Given the description of an element on the screen output the (x, y) to click on. 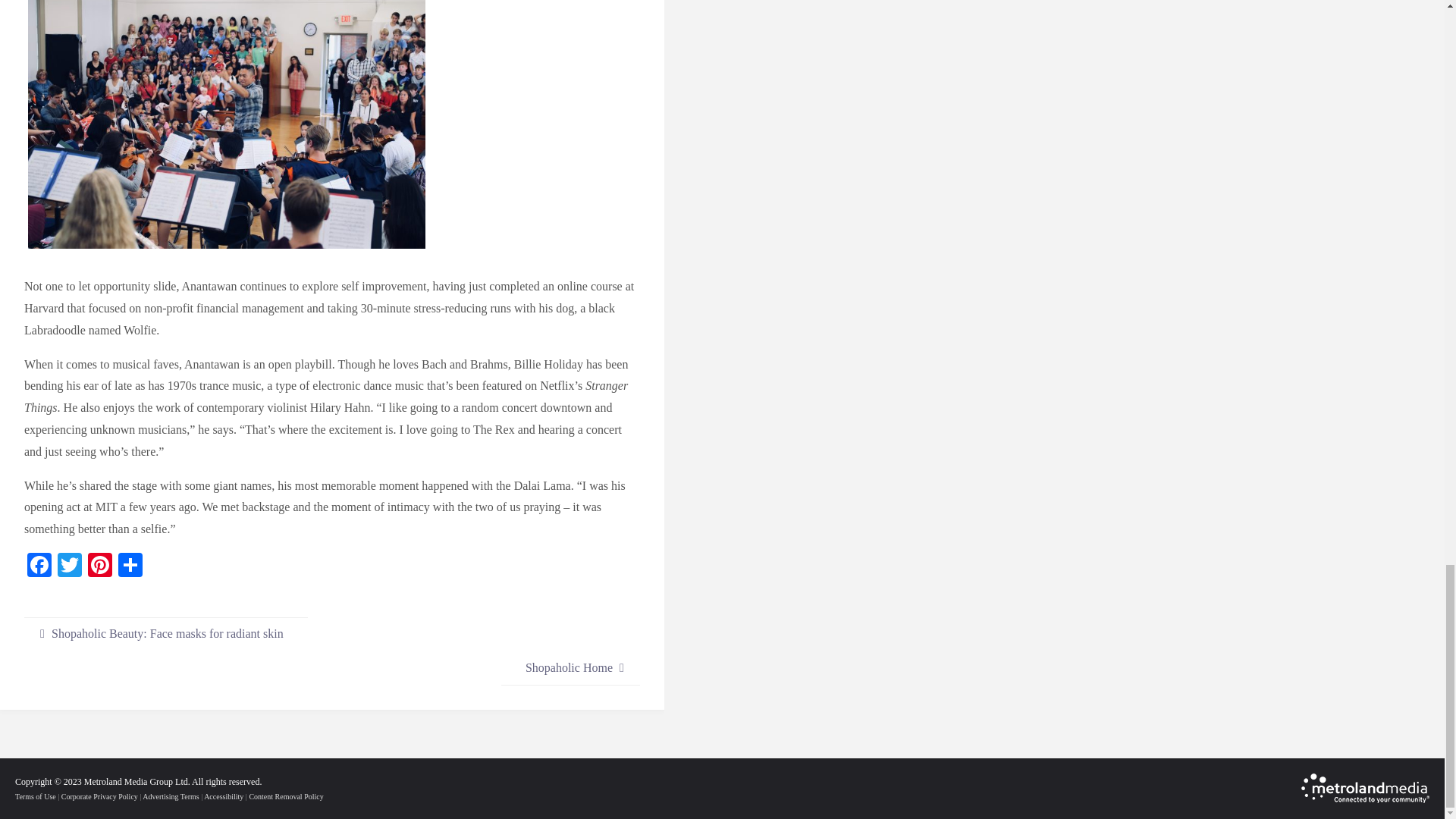
Facebook (39, 566)
Share (130, 566)
Shopaholic Home (570, 668)
Shopaholic Beauty: Face masks for radiant skin (165, 634)
Facebook (39, 566)
Pinterest (99, 566)
Twitter (69, 566)
Pinterest (99, 566)
Twitter (69, 566)
